Given the description of an element on the screen output the (x, y) to click on. 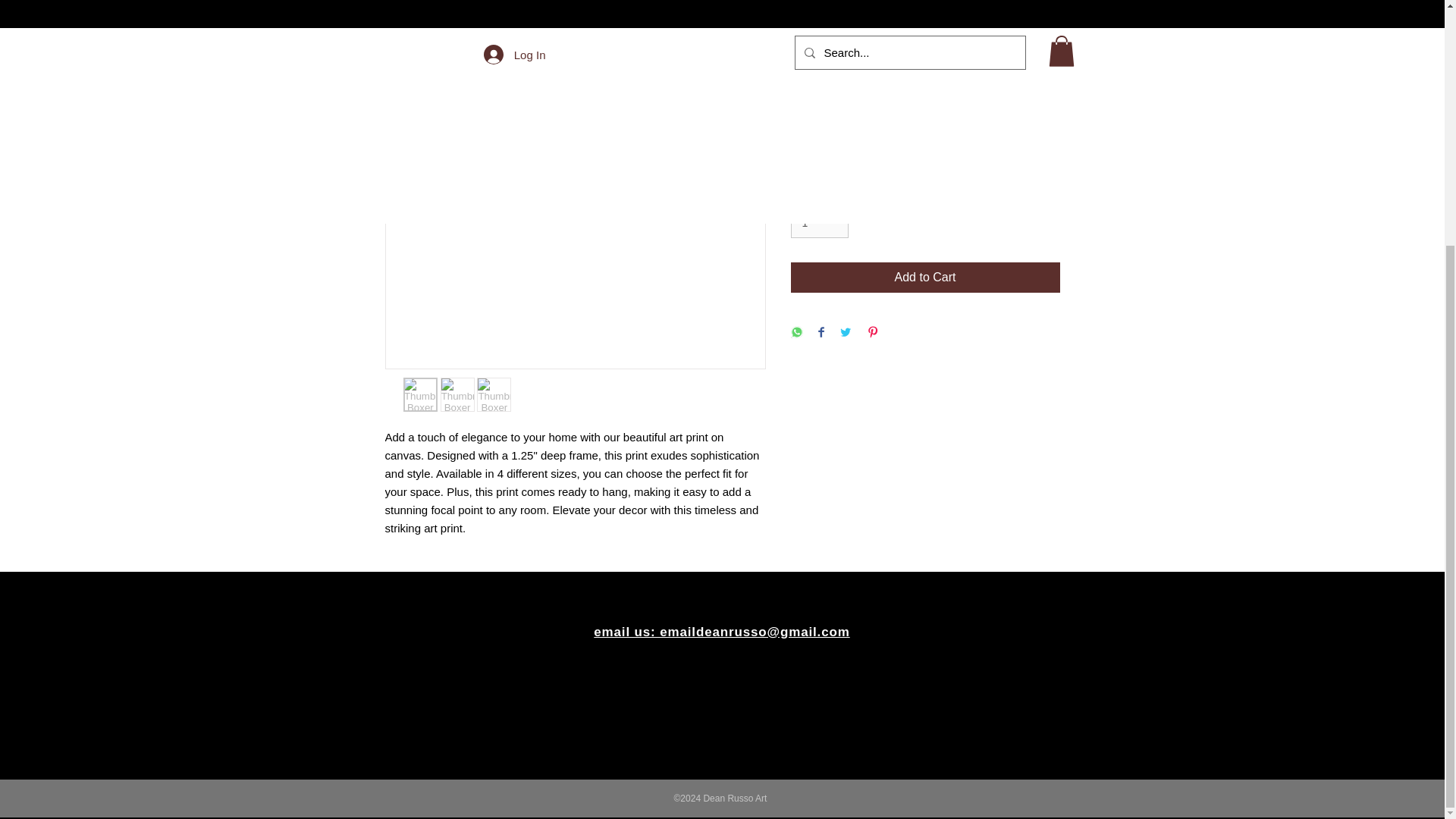
1.25" (924, 155)
Add to Cart (924, 277)
1 (818, 223)
Select (924, 89)
